Given the description of an element on the screen output the (x, y) to click on. 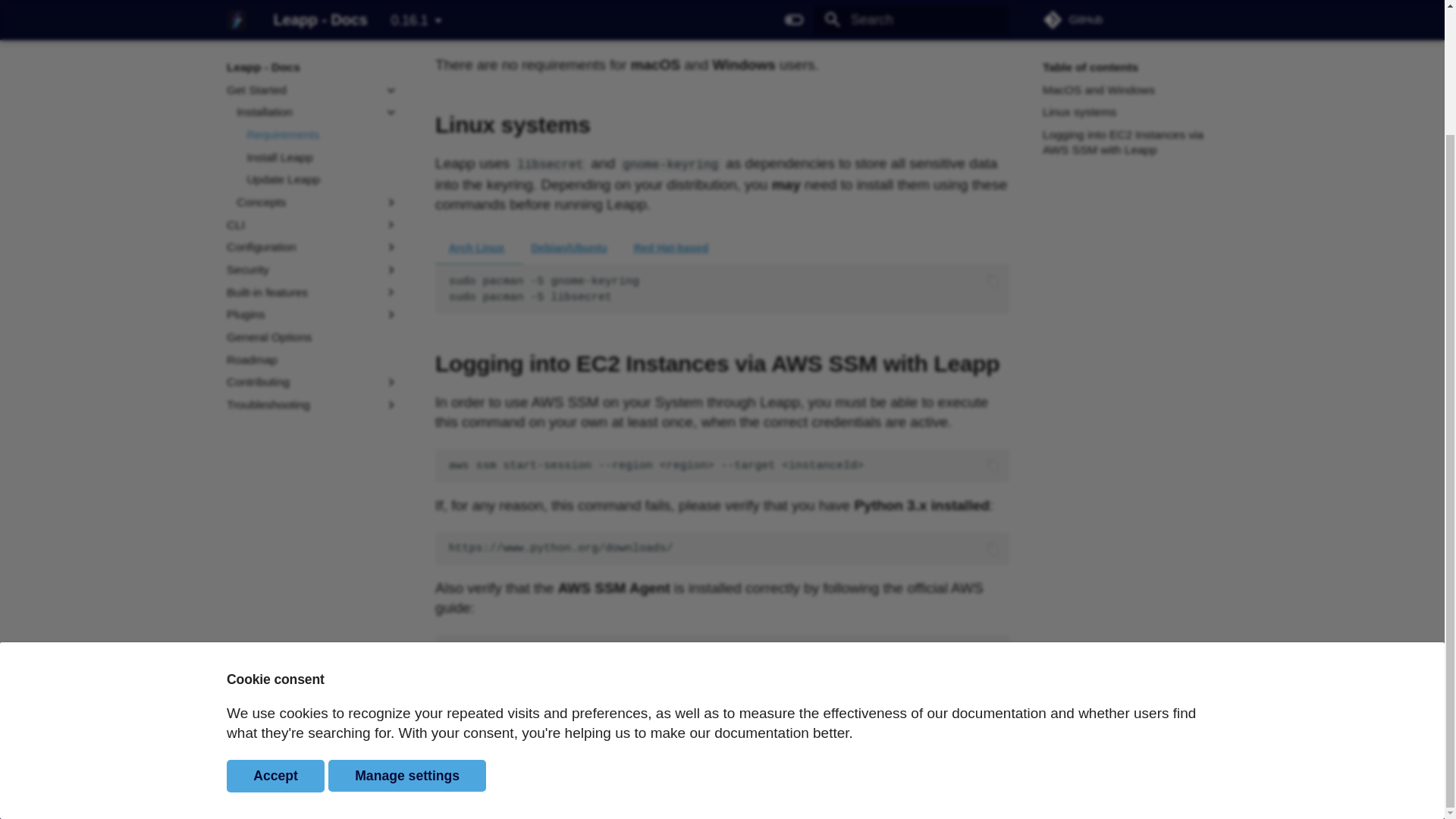
Copy to clipboard (992, 465)
Copy to clipboard (992, 281)
Copy to clipboard (992, 650)
Copy to clipboard (992, 547)
